Given the description of an element on the screen output the (x, y) to click on. 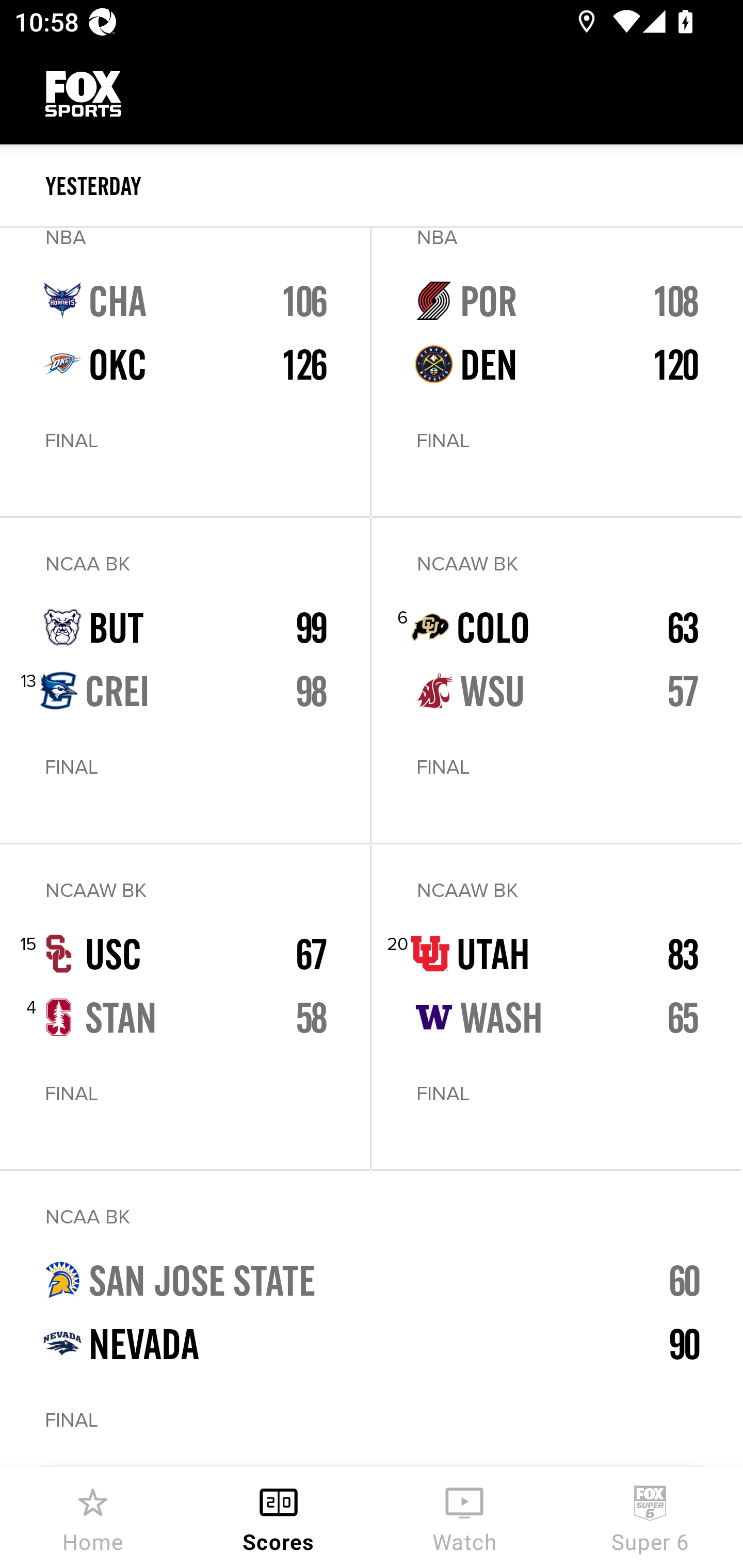
YESTERDAY (394, 185)
NBA CHA 106 OKC 126 FINAL (185, 371)
NBA POR 108 DEN 120 FINAL (556, 371)
NCAA BK BUT 99 13 CREI 98 FINAL (185, 680)
NCAAW BK 6 COLO 63 WSU 57 FINAL (556, 680)
NCAAW BK 15 USC 67 4 STAN 58 FINAL (185, 1006)
NCAAW BK 20 UTAH 83 WASH 65 FINAL (556, 1006)
NCAA BK SAN JOSE STATE 60 NEVADA 90 FINAL (371, 1319)
Home (92, 1517)
Watch (464, 1517)
Super 6 (650, 1517)
